Given the description of an element on the screen output the (x, y) to click on. 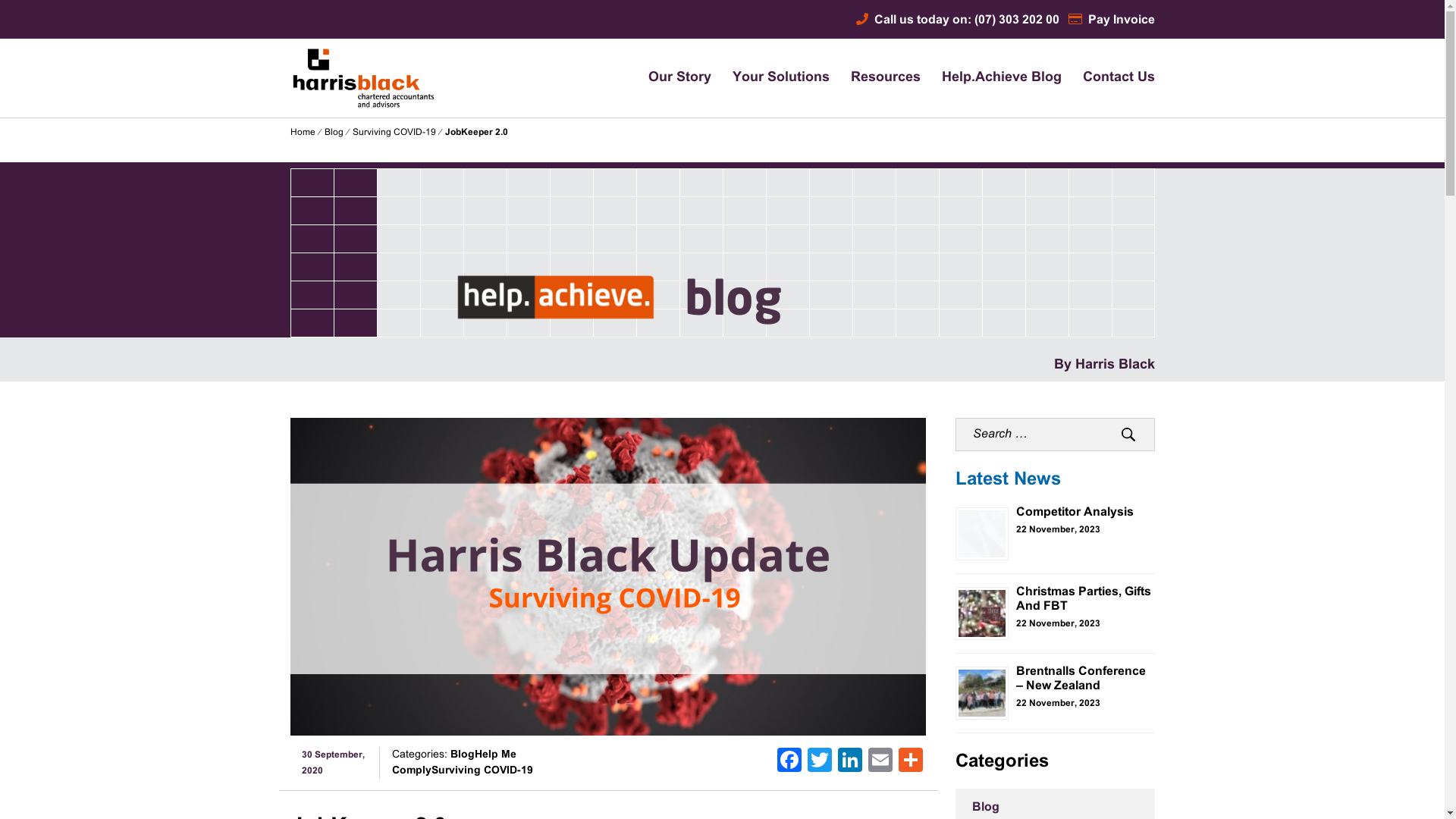
LinkedIn Element type: text (849, 762)
By Harris Black Element type: text (1104, 364)
Blog Element type: text (333, 132)
Harris Black Element type: text (342, 153)
Latest News Element type: text (1007, 479)
Help.Achieve Blog Element type: text (1001, 77)
Contact Us Element type: text (1118, 77)
Home Element type: text (301, 132)
Our Story Element type: text (678, 77)
Email Element type: text (880, 762)
Call us today on: (07) 303 202 00 Element type: text (956, 19)
Christmas Parties, Gifts And FBT Element type: text (1083, 598)
Search Element type: text (1128, 434)
Resources Element type: text (885, 77)
Facebook Element type: text (789, 762)
Competitor Analysis Element type: text (1074, 511)
Twitter Element type: text (819, 762)
Pay Invoice Element type: text (1110, 19)
Share Element type: text (910, 762)
Your Solutions Element type: text (780, 77)
Surviving COVID-19 Element type: text (394, 132)
